Given the description of an element on the screen output the (x, y) to click on. 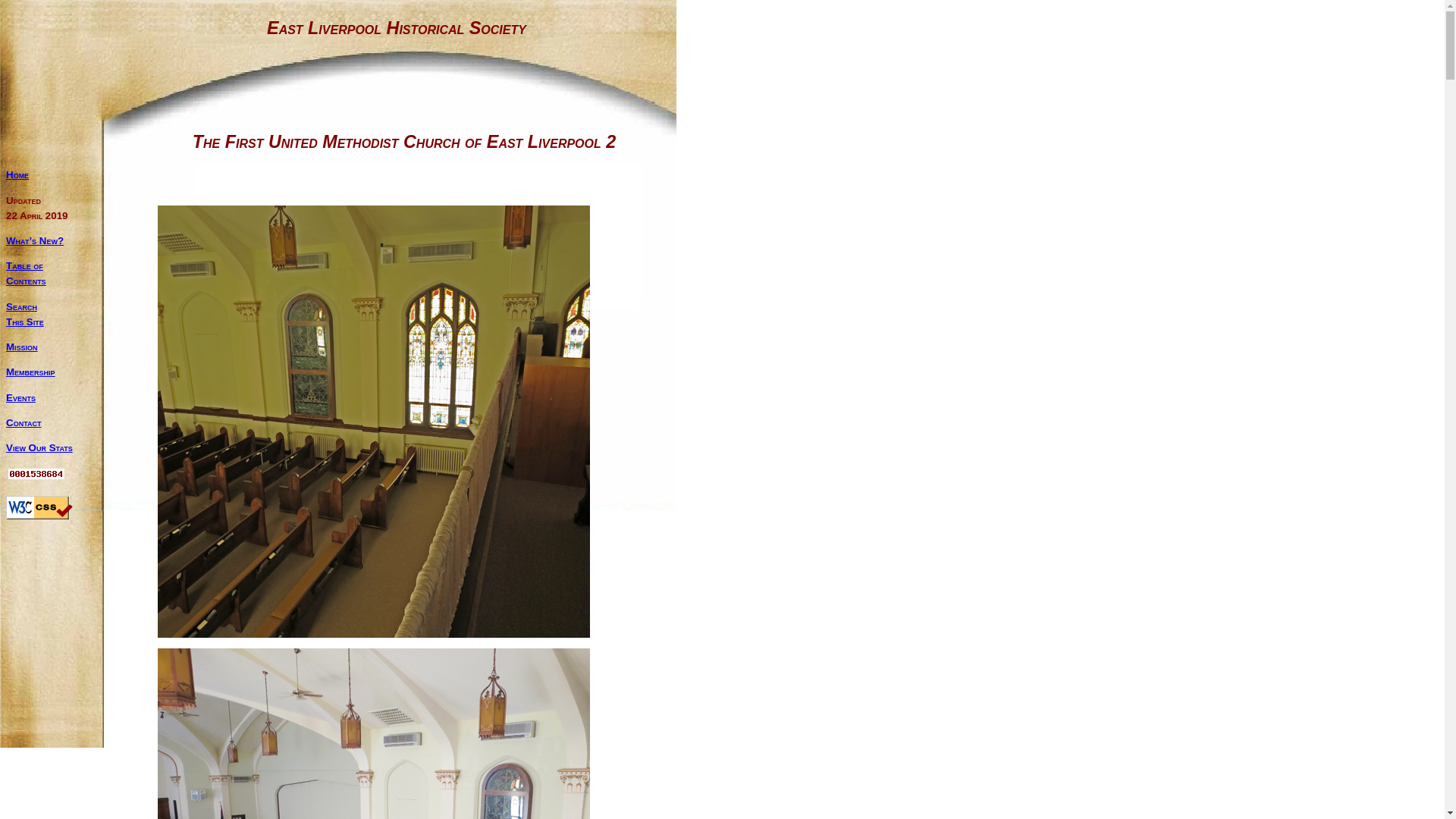
Membership (25, 273)
Contact (30, 371)
Home (22, 422)
View Our Stats (24, 314)
Mission (17, 174)
Events (38, 447)
